Given the description of an element on the screen output the (x, y) to click on. 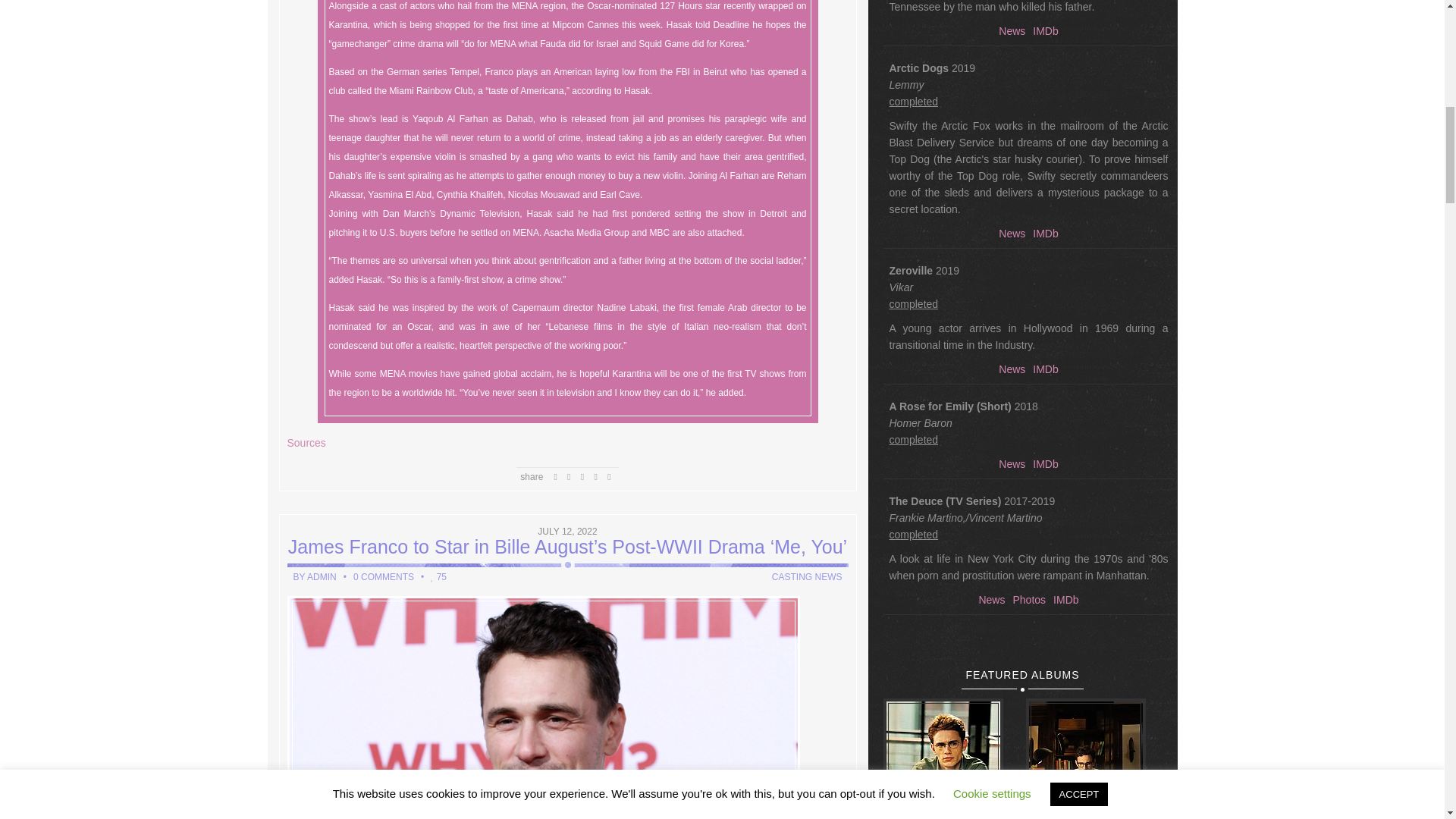
 75  (439, 576)
CASTING NEWS (807, 576)
Sources (305, 442)
0 COMMENTS (383, 576)
